Given the description of an element on the screen output the (x, y) to click on. 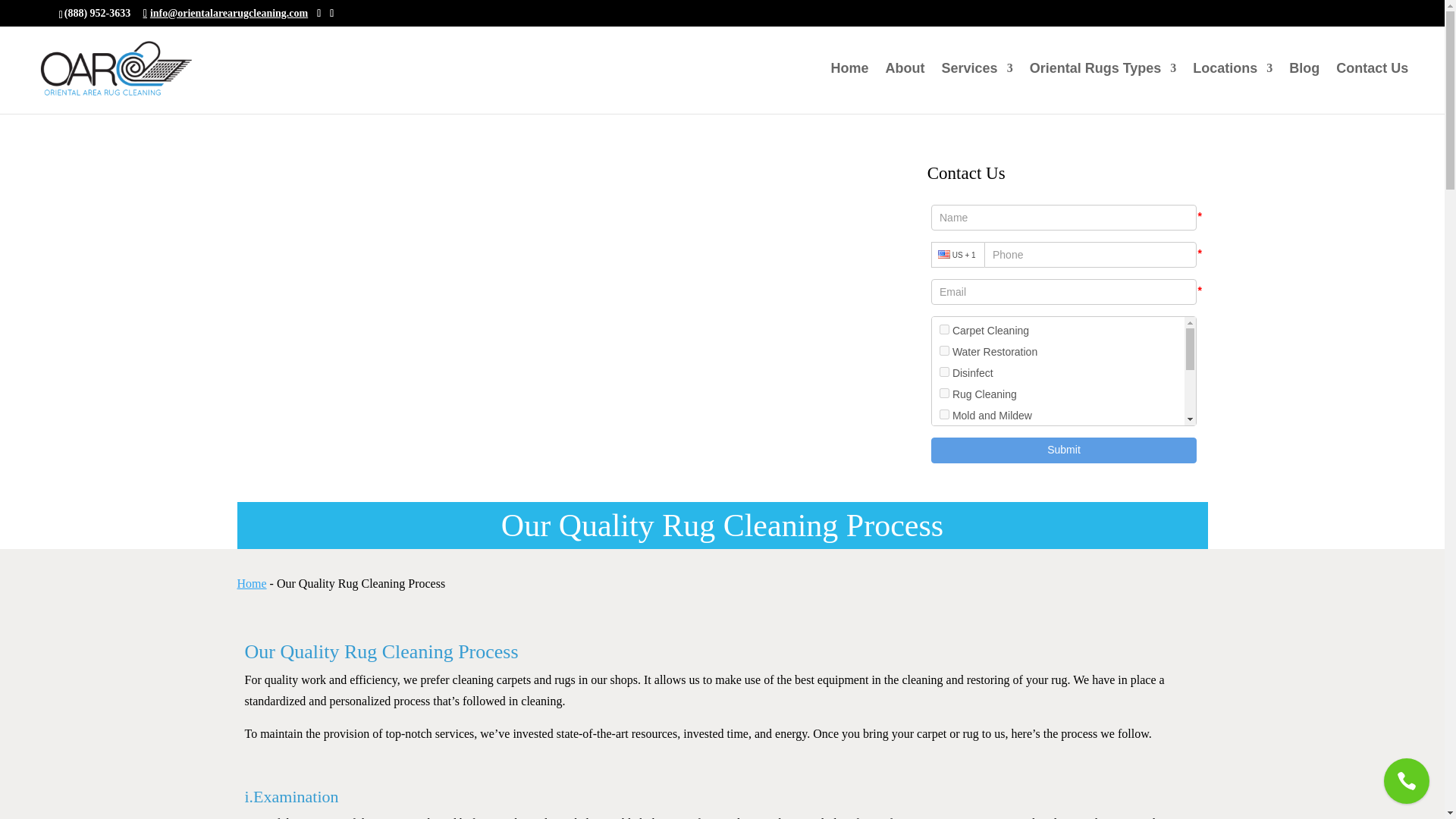
Home (850, 88)
Services (977, 88)
Oriental Rugs Types (1102, 88)
About (904, 88)
